Given the description of an element on the screen output the (x, y) to click on. 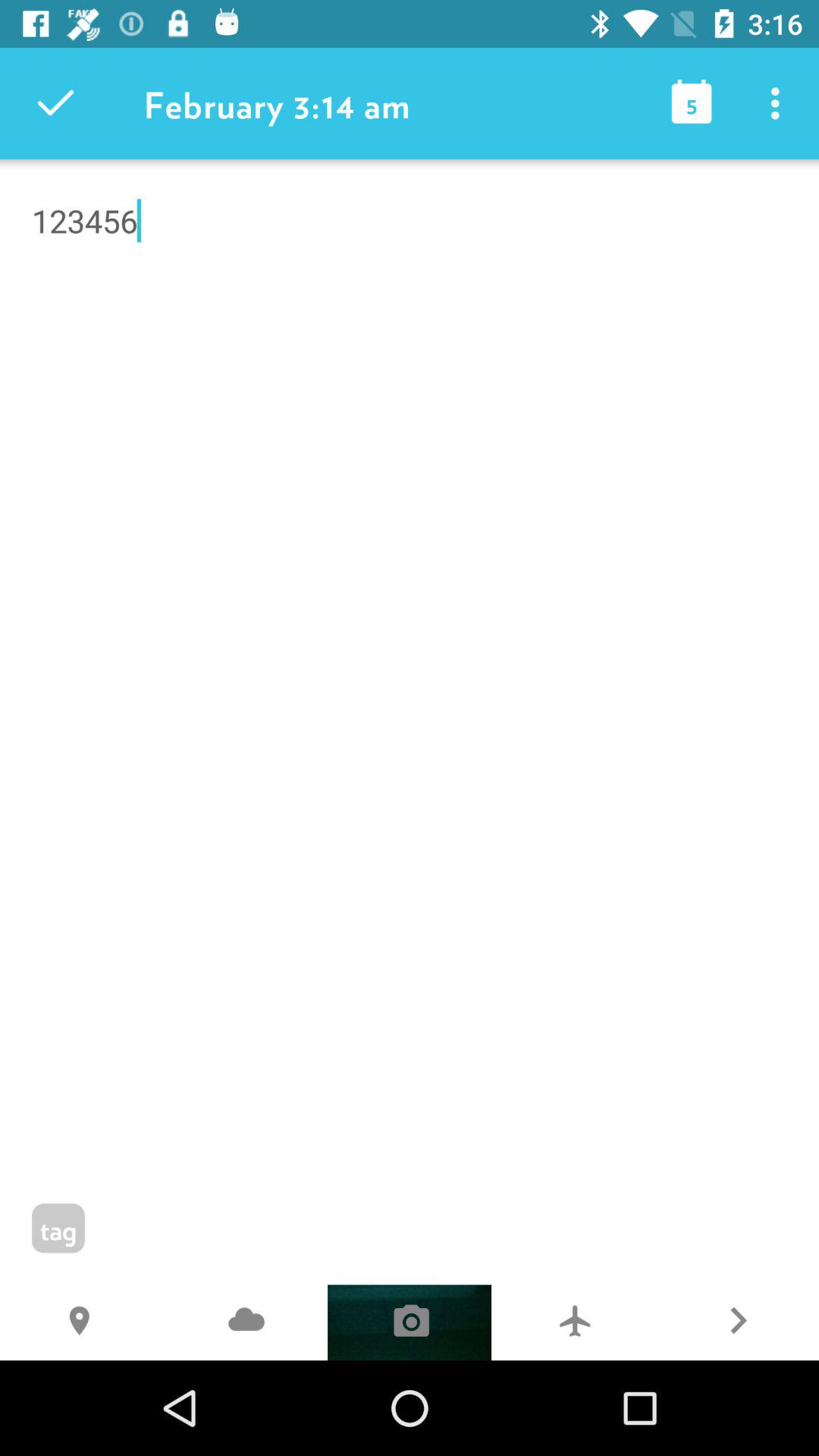
open item next to the r (573, 1322)
